Given the description of an element on the screen output the (x, y) to click on. 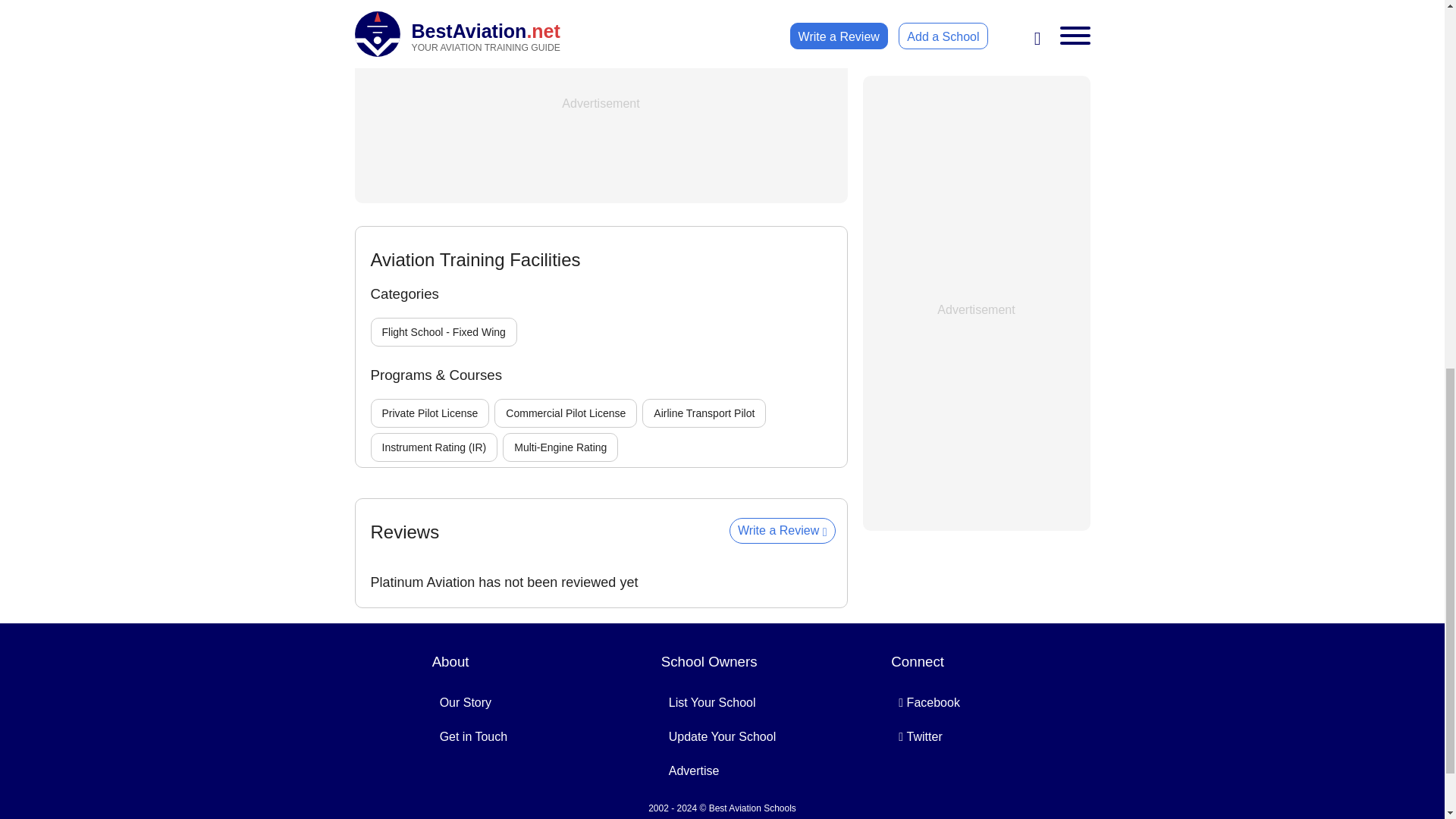
List Your School (711, 702)
Advertise (693, 770)
Update Your School (722, 736)
Get in Touch (473, 736)
Facebook (929, 702)
Write a Review (782, 530)
Our Story (465, 702)
Twitter (920, 736)
